Given the description of an element on the screen output the (x, y) to click on. 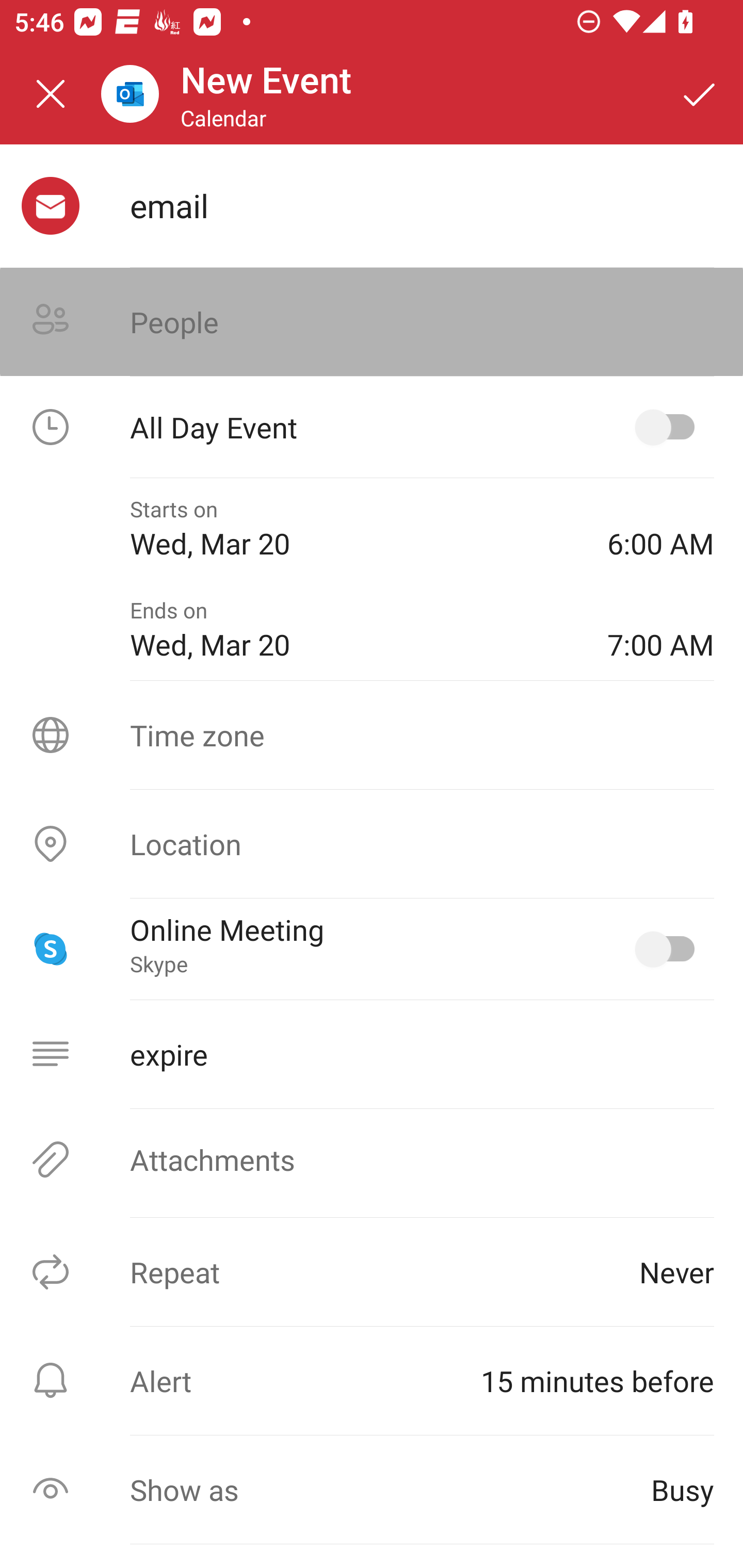
Close (50, 93)
Save (699, 93)
email (422, 205)
email selected, event icon picker (50, 206)
People (371, 322)
All Day Event (371, 427)
Starts on Wed, Mar 20 (353, 528)
6:00 AM (660, 528)
Ends on Wed, Mar 20 (353, 629)
7:00 AM (660, 629)
Time zone (371, 734)
Location (371, 844)
Online Meeting, Skype selected (669, 949)
expire    Description, expire    (371, 1054)
Attachments (371, 1159)
Repeat Never (371, 1272)
Alert ⁨15 minutes before (371, 1380)
Show as Busy (371, 1489)
